Given the description of an element on the screen output the (x, y) to click on. 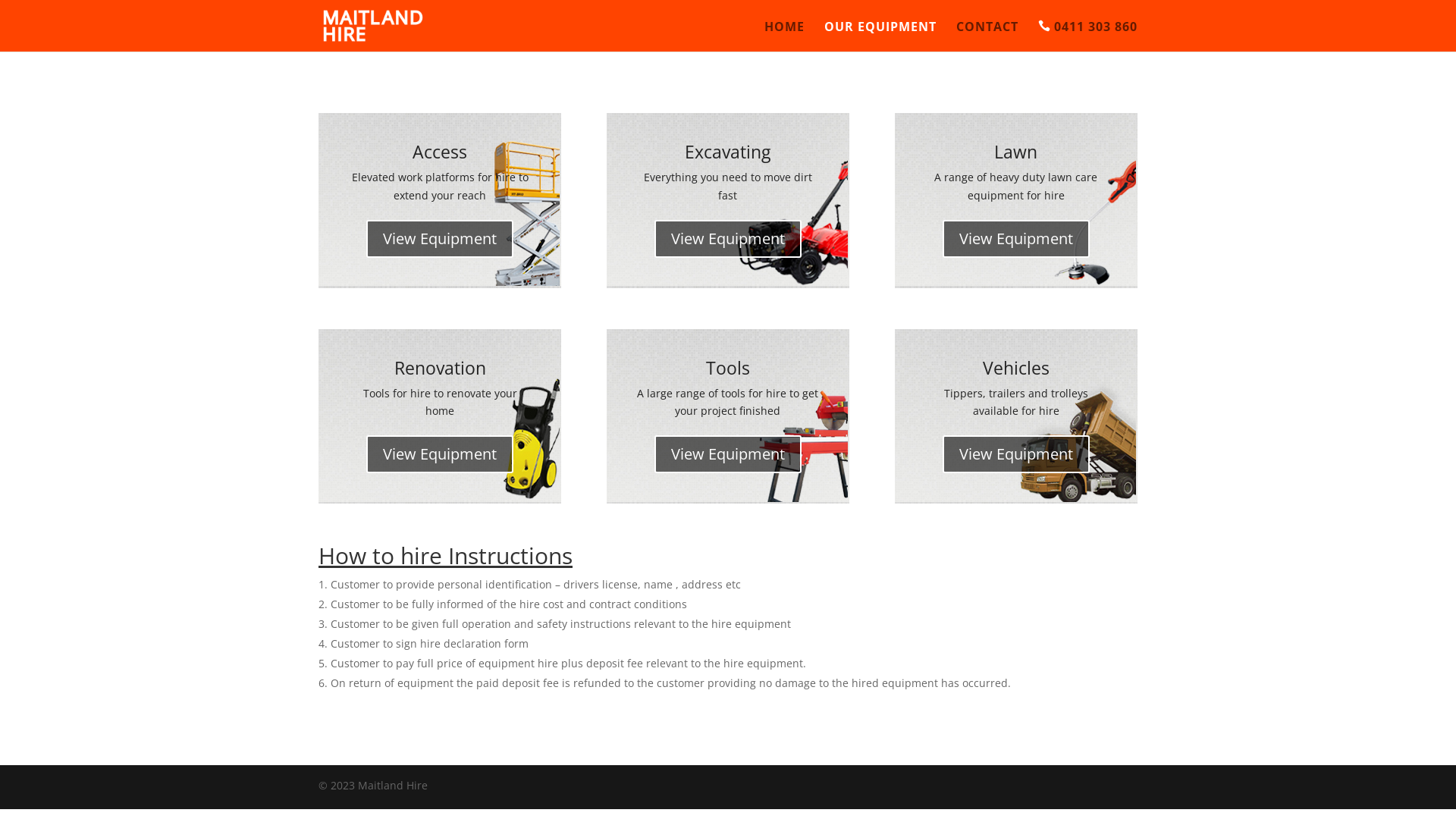
View Equipment Element type: text (439, 454)
View Equipment Element type: text (727, 238)
View Equipment Element type: text (439, 238)
View Equipment Element type: text (1015, 454)
HOME Element type: text (784, 36)
View Equipment Element type: text (727, 454)
CONTACT Element type: text (987, 36)
View Equipment Element type: text (1015, 238)
OUR EQUIPMENT Element type: text (880, 36)
